Given the description of an element on the screen output the (x, y) to click on. 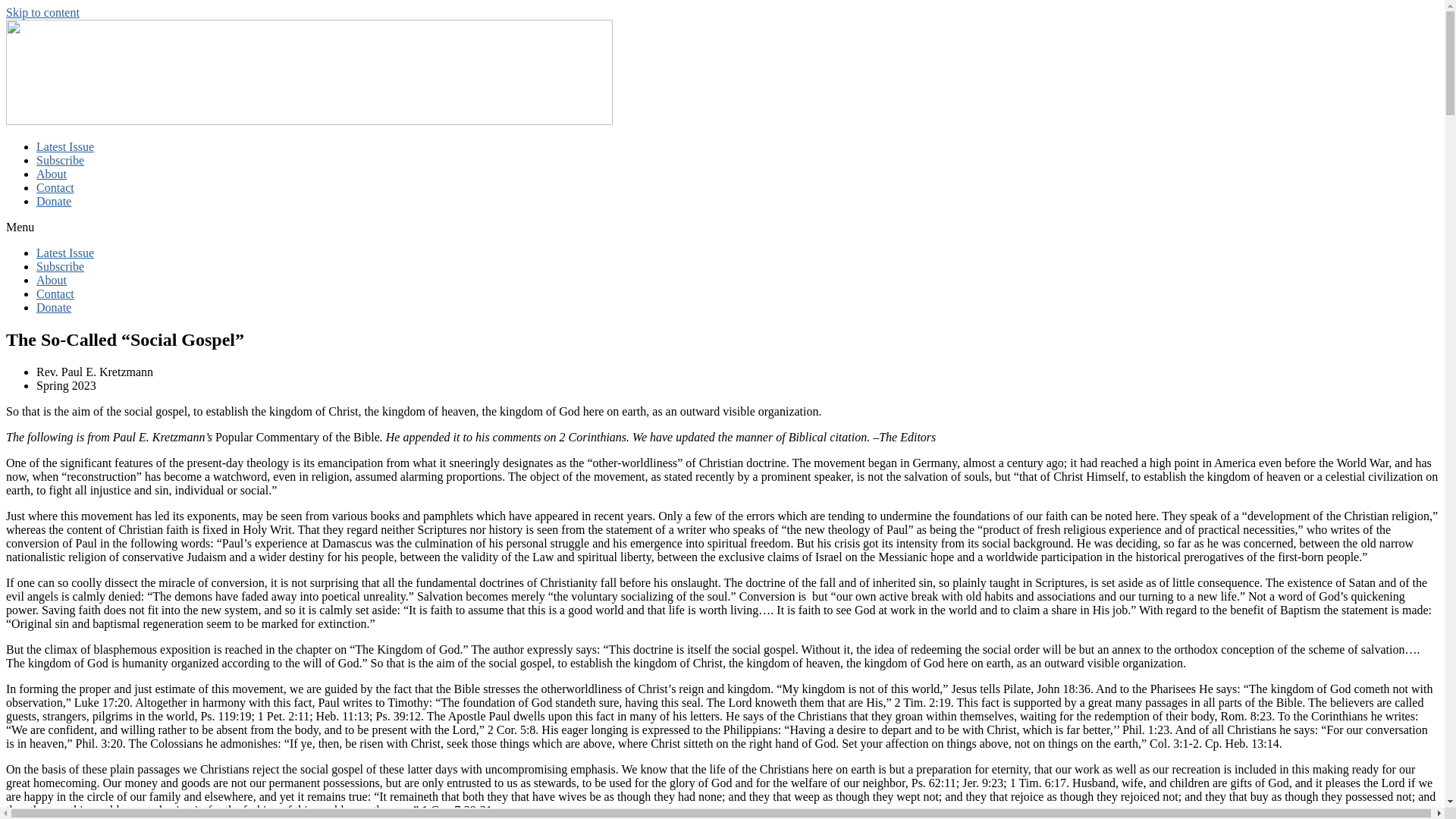
Subscribe (60, 266)
Contact (55, 187)
Donate (53, 201)
Subscribe (60, 160)
Skip to content (42, 11)
Contact (55, 293)
About (51, 173)
About (51, 279)
Latest Issue (65, 252)
Donate (53, 307)
